Given the description of an element on the screen output the (x, y) to click on. 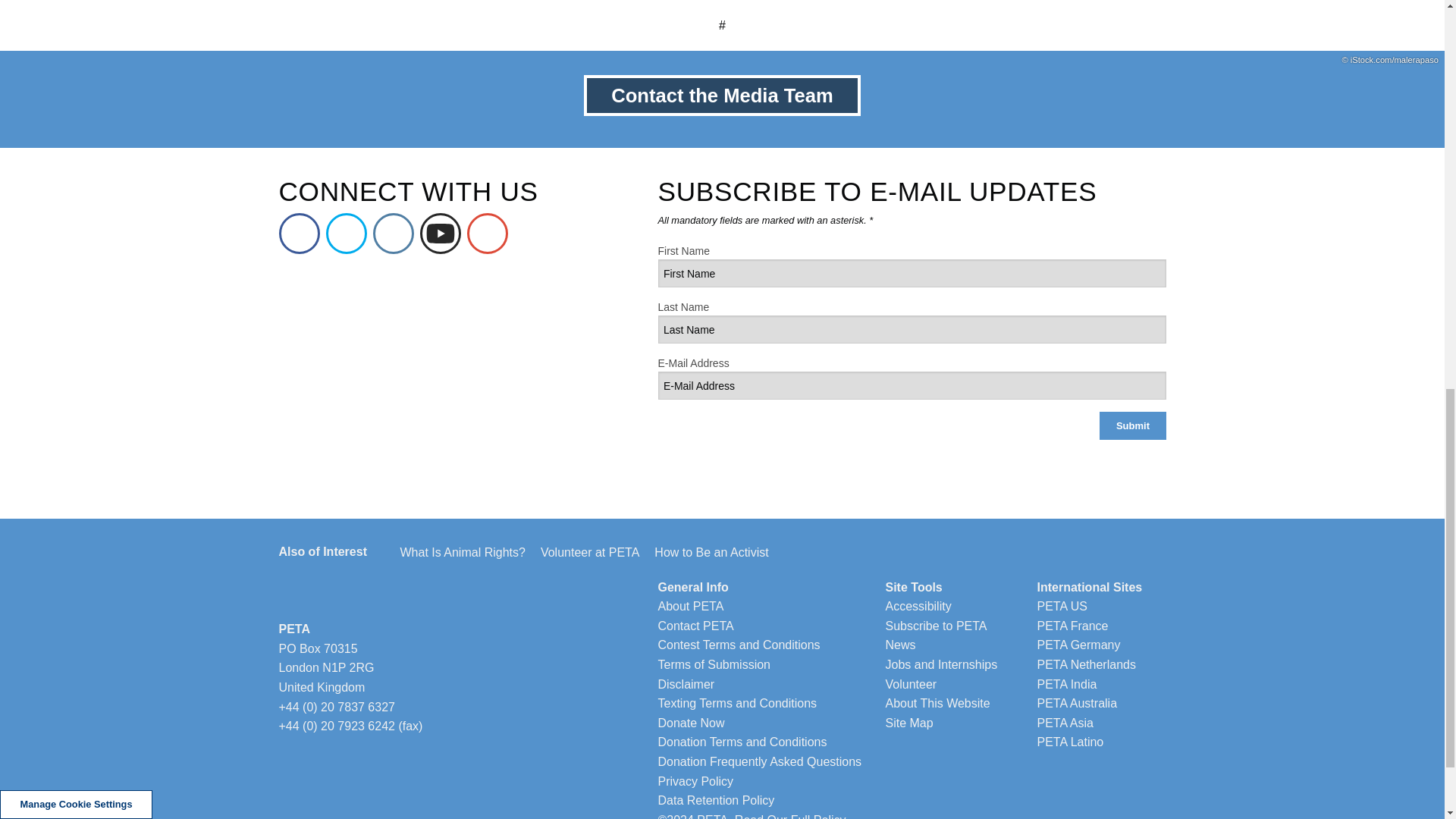
Submit (1132, 425)
